Given the description of an element on the screen output the (x, y) to click on. 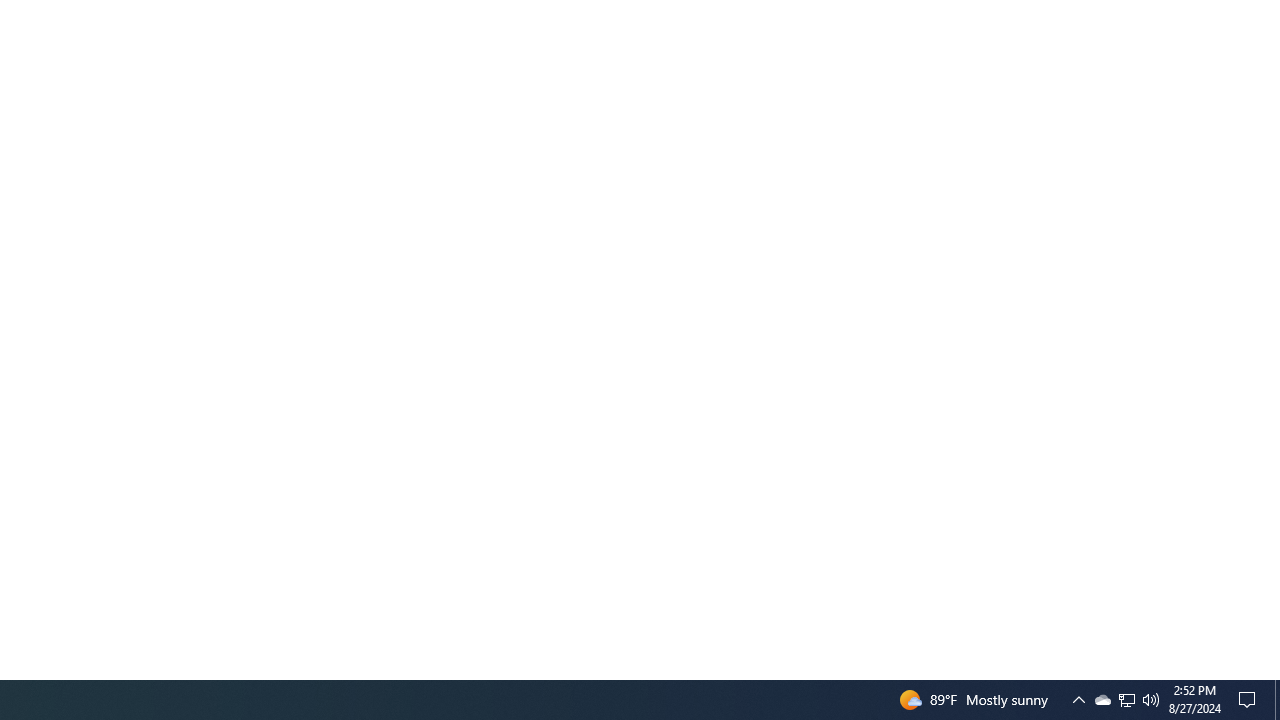
Action Center, No new notifications (1250, 699)
Notification Chevron (1078, 699)
User Promoted Notification Area (1126, 699)
Show desktop (1126, 699)
Q2790: 100% (1277, 699)
